Given the description of an element on the screen output the (x, y) to click on. 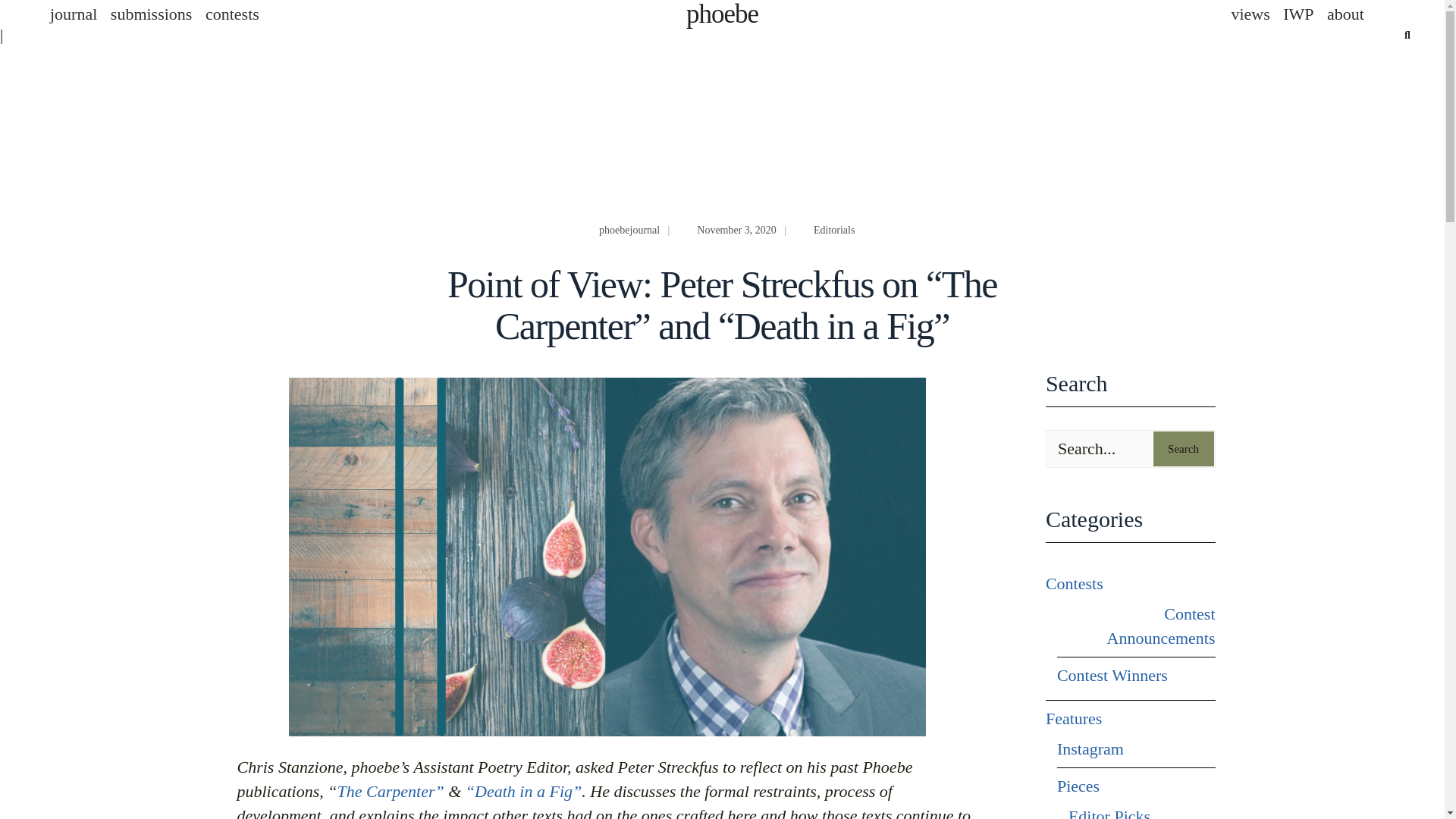
Editor Picks (1109, 811)
contests (231, 14)
Search (1182, 448)
phoebejournal (628, 229)
Features (1073, 718)
journal (73, 14)
Contest Winners (1112, 675)
Editorials (833, 229)
Contest Announcements (1136, 625)
views (1249, 14)
submissions (151, 14)
Posts by phoebejournal (628, 229)
Contests (1074, 583)
Search... (1130, 448)
about (1345, 14)
